Given the description of an element on the screen output the (x, y) to click on. 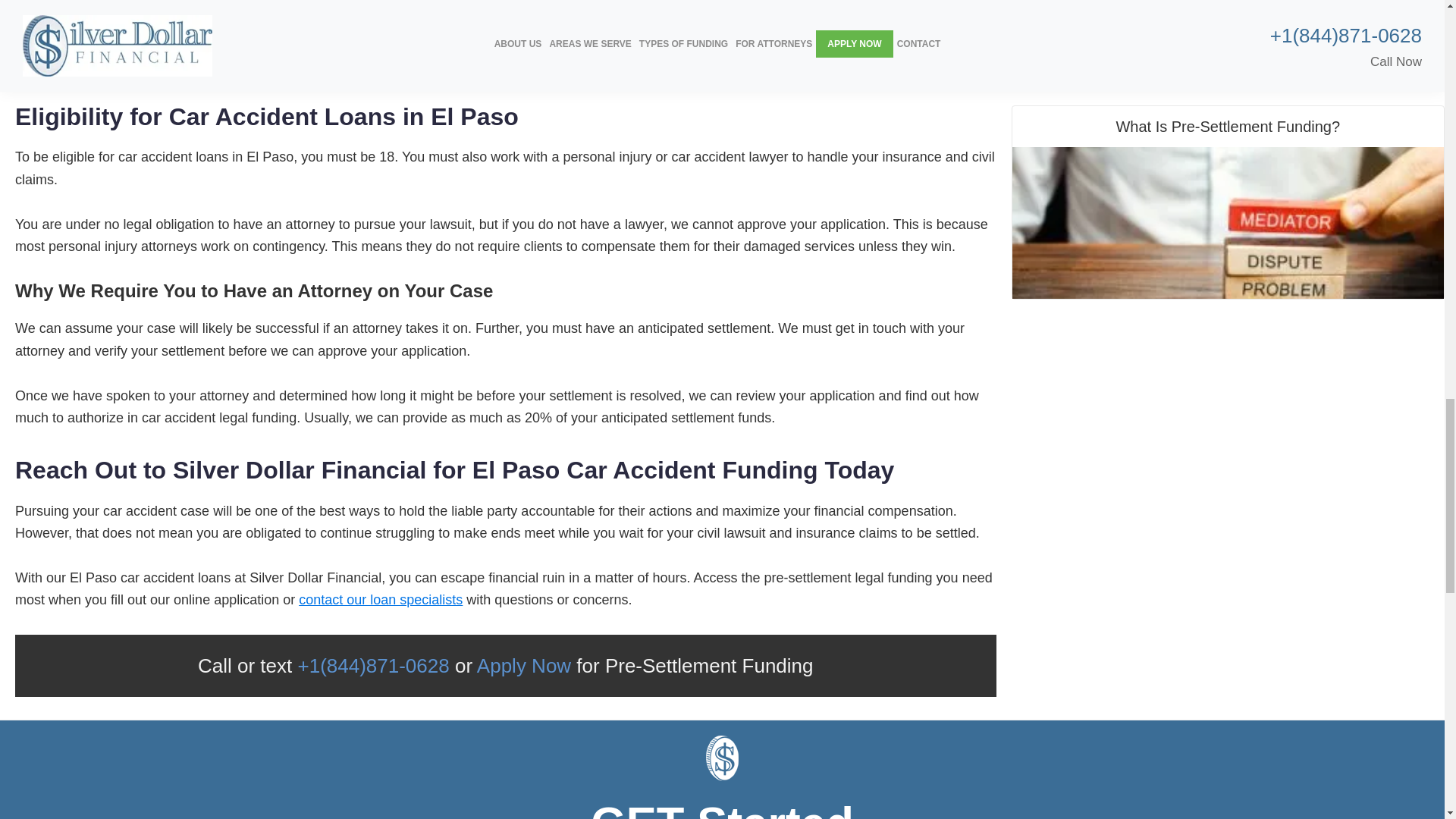
What Is Pre-Settlement Funding? (1227, 202)
What Is Pre-Settlement Funding? (1227, 222)
How Long Does It Take to Get  Settlement Loan? (1227, 40)
How Long Does It Take to Get  Settlement Loan? (1227, 40)
